Given the description of an element on the screen output the (x, y) to click on. 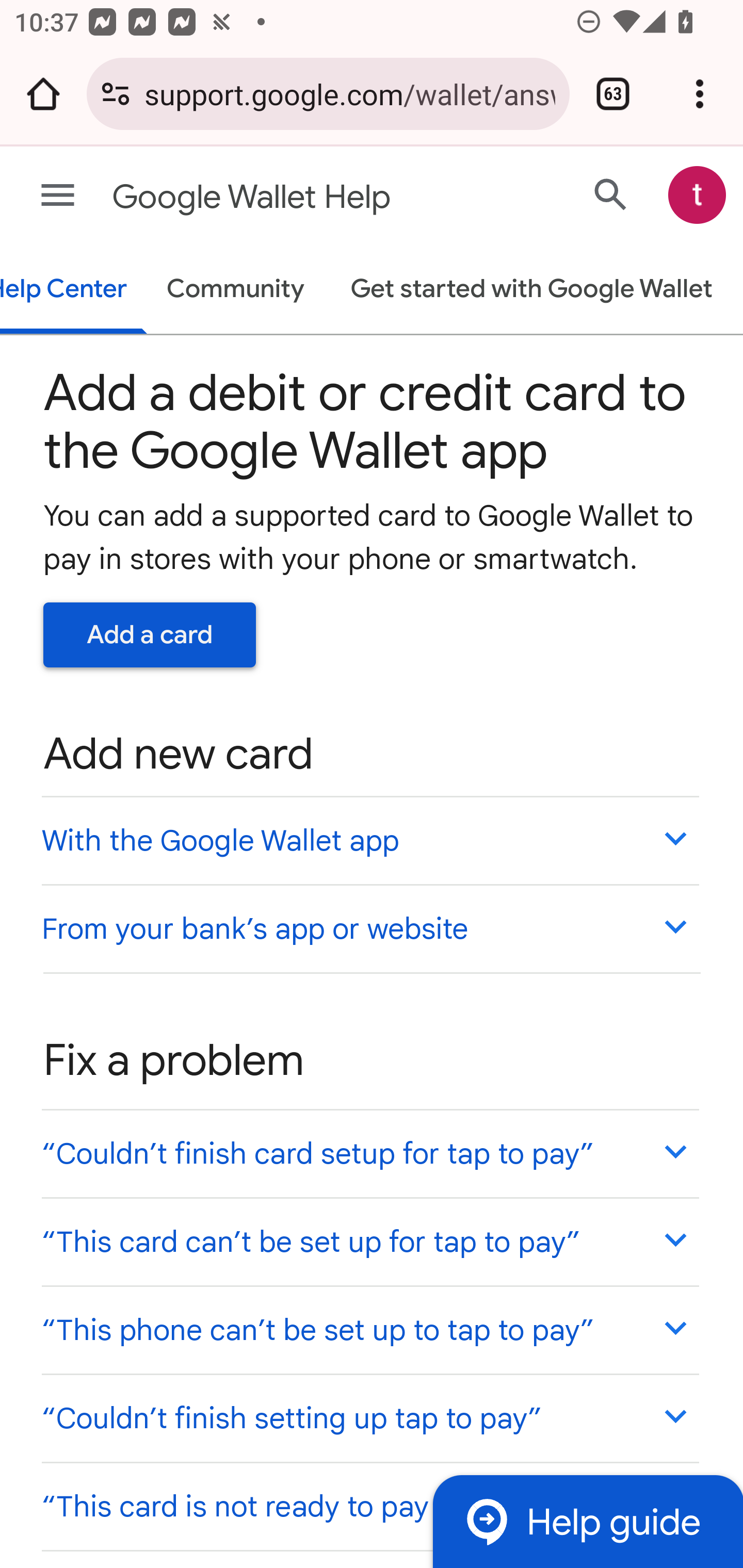
Open the home page (43, 93)
Connection is secure (115, 93)
Switch or close tabs (612, 93)
Customize and control Google Chrome (699, 93)
Main menu (58, 195)
Google Wallet Help (292, 197)
Search Help Center (611, 194)
Help Center (73, 289)
Community (235, 289)
Get started with Google Wallet (531, 289)
Add a card (149, 633)
With the Google Wallet app (369, 839)
From your bank’s app or website (369, 927)
“Couldn’t finish card setup for tap to pay” (369, 1152)
“This card can’t be set up for tap to pay” (369, 1240)
“This phone can’t be set up to tap to pay” (369, 1329)
“Couldn’t finish setting up tap to pay” (369, 1417)
“This card is not ready to pay online” (369, 1504)
Help guide (587, 1520)
